Given the description of an element on the screen output the (x, y) to click on. 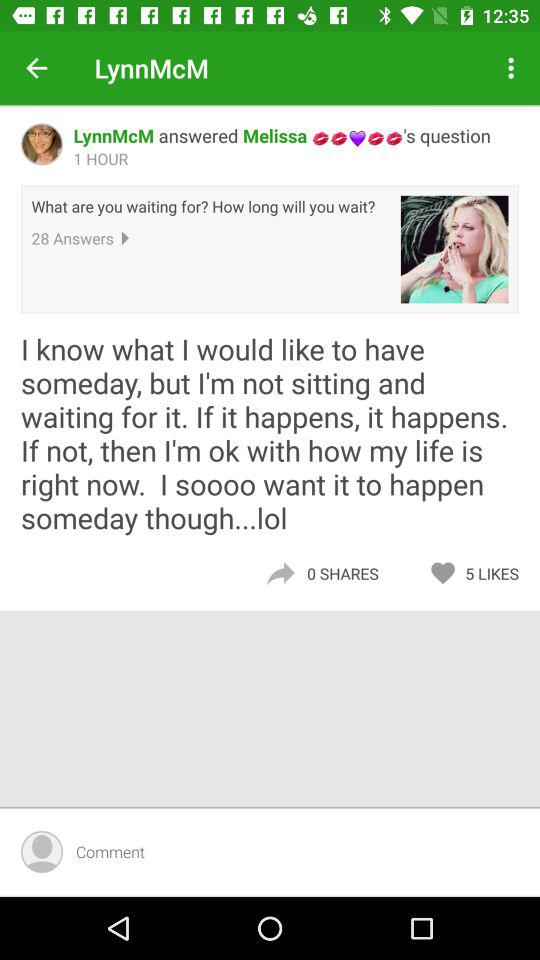
share the post (280, 573)
